Given the description of an element on the screen output the (x, y) to click on. 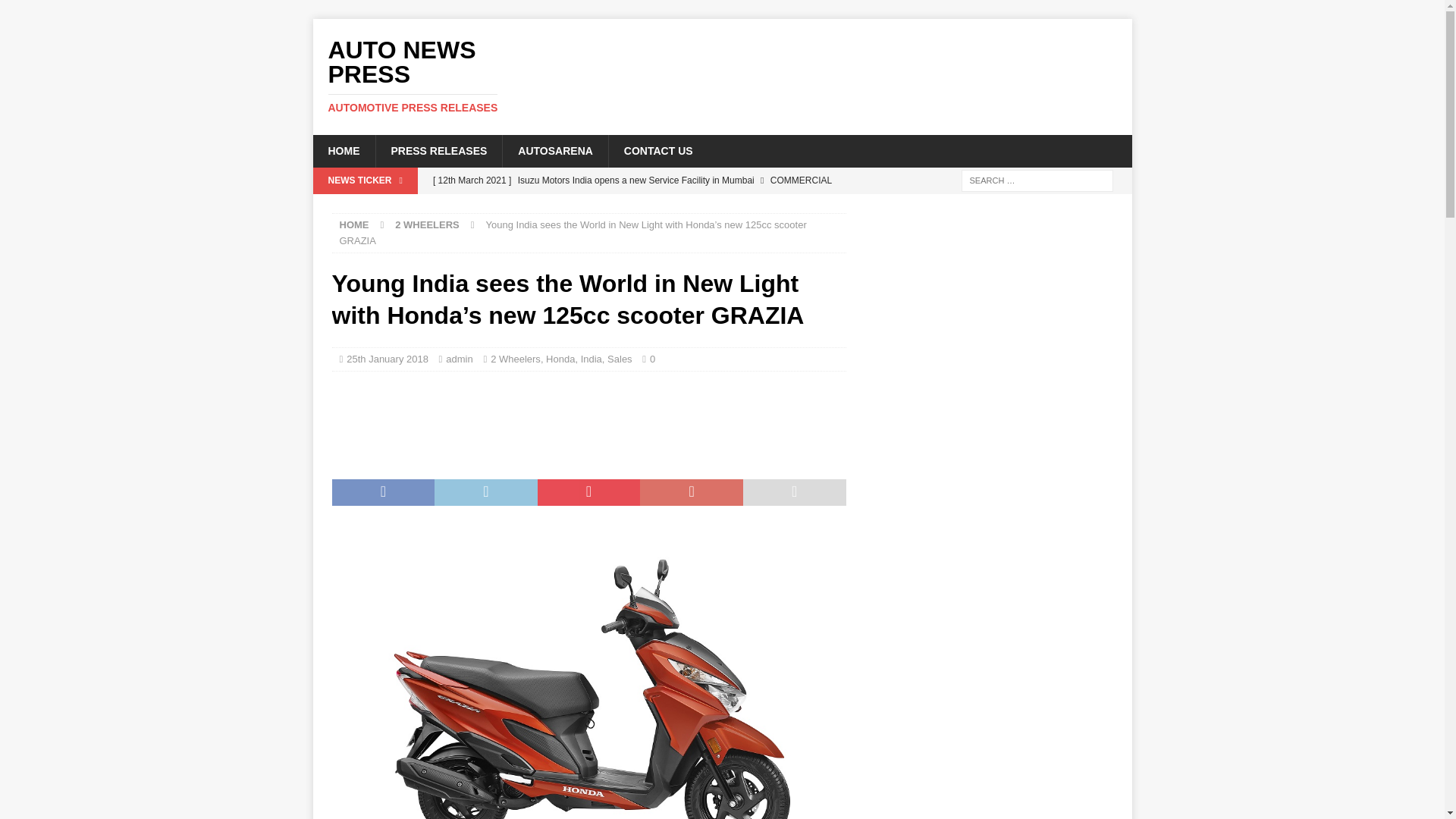
AUTOSARENA (555, 151)
Advertisement (868, 68)
Isuzu Motors India opens a new Service Facility in Mumbai (634, 193)
Sales (619, 358)
Advertisement (607, 420)
admin (458, 358)
India (591, 358)
25th January 2018 (387, 358)
Search (56, 11)
2 WHEELERS (427, 224)
PRESS RELEASES (438, 151)
HOME (441, 75)
Auto News Press (343, 151)
CONTACT US (441, 75)
